Given the description of an element on the screen output the (x, y) to click on. 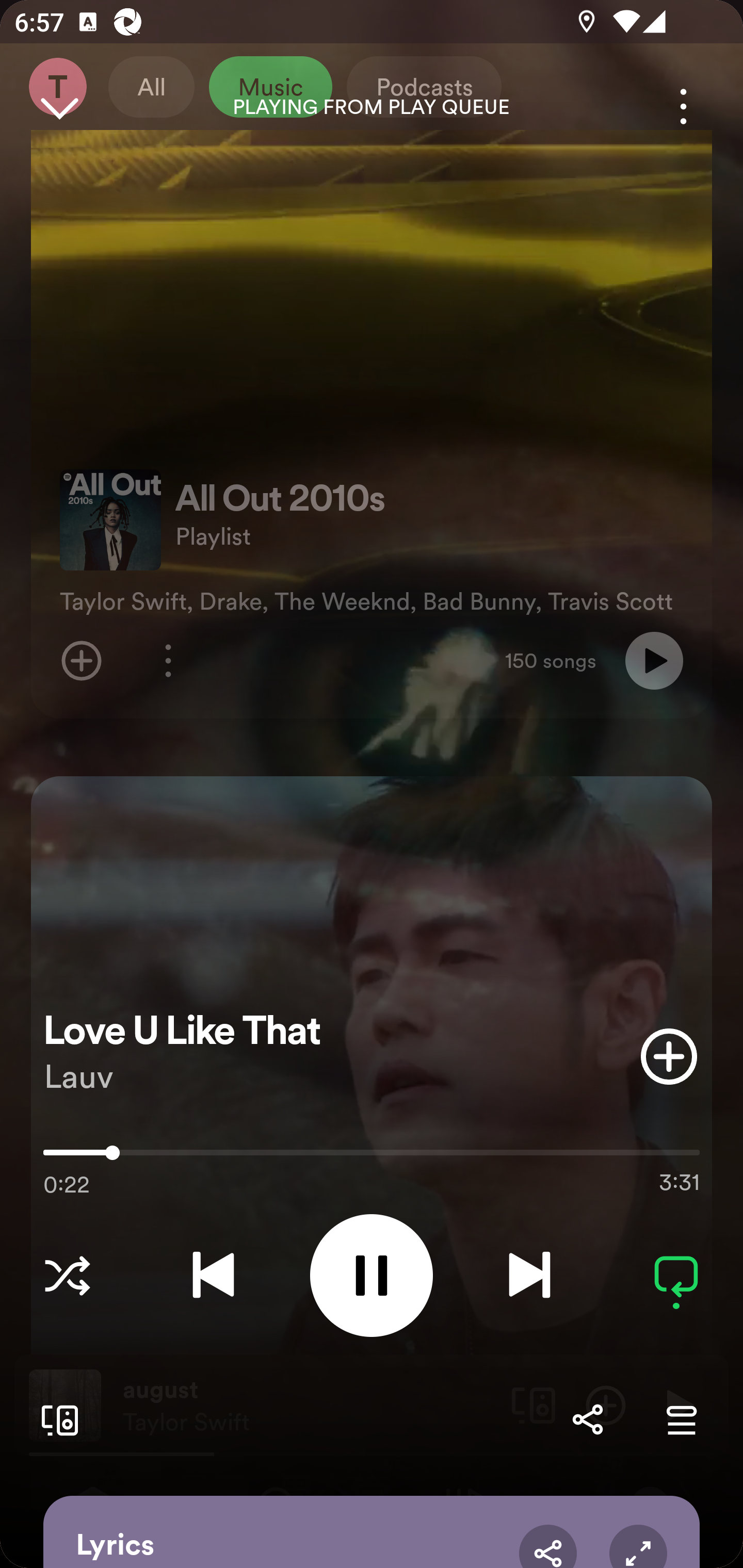
Close (59, 106)
More options for song Love U Like That (683, 106)
PLAYING FROM PLAY QUEUE (371, 107)
Add item (669, 1056)
0:22 3:31 22198.0 Use volume keys to adjust (371, 1157)
Pause (371, 1275)
Previous (212, 1275)
Next (529, 1275)
Choose a Listening Mode (66, 1275)
Repeat (676, 1275)
Share (587, 1419)
Go to Queue (681, 1419)
Connect to a device. Opens the devices menu (55, 1419)
Lyrics Share Expand (371, 1531)
Share (547, 1546)
Expand (638, 1546)
